Given the description of an element on the screen output the (x, y) to click on. 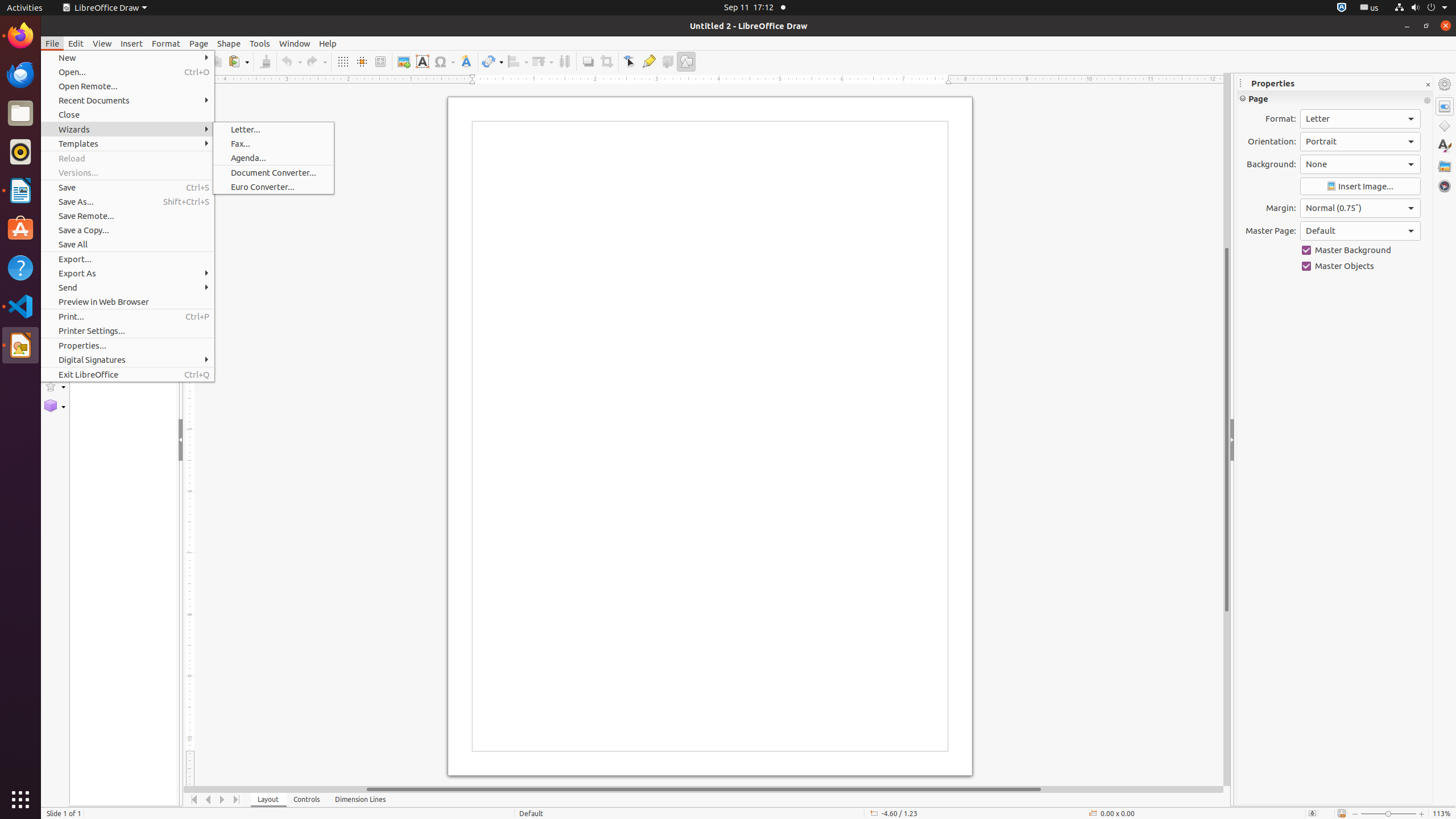
Versions... Element type: menu-item (127, 172)
Helplines While Moving Element type: toggle-button (361, 61)
:1.72/StatusNotifierItem Element type: menu (1341, 7)
Move To End Element type: push-button (236, 799)
Glue Points Element type: push-button (648, 61)
